Given the description of an element on the screen output the (x, y) to click on. 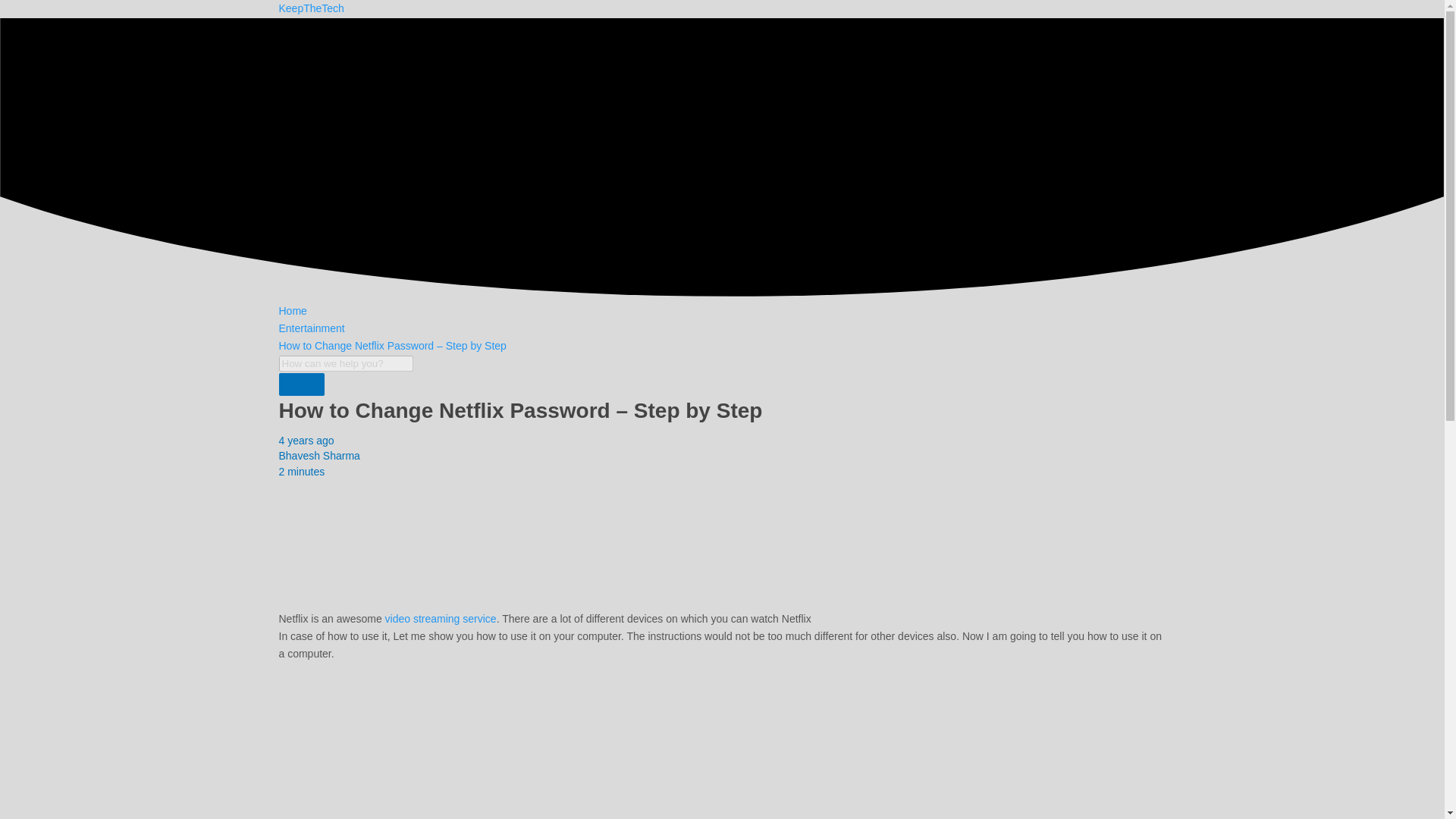
Home (293, 310)
Entertainment (312, 328)
Advertisement (722, 748)
Bhavesh Sharma (319, 455)
KeepTheTech (311, 8)
video streaming service (440, 618)
KeepTheTech (311, 8)
